Given the description of an element on the screen output the (x, y) to click on. 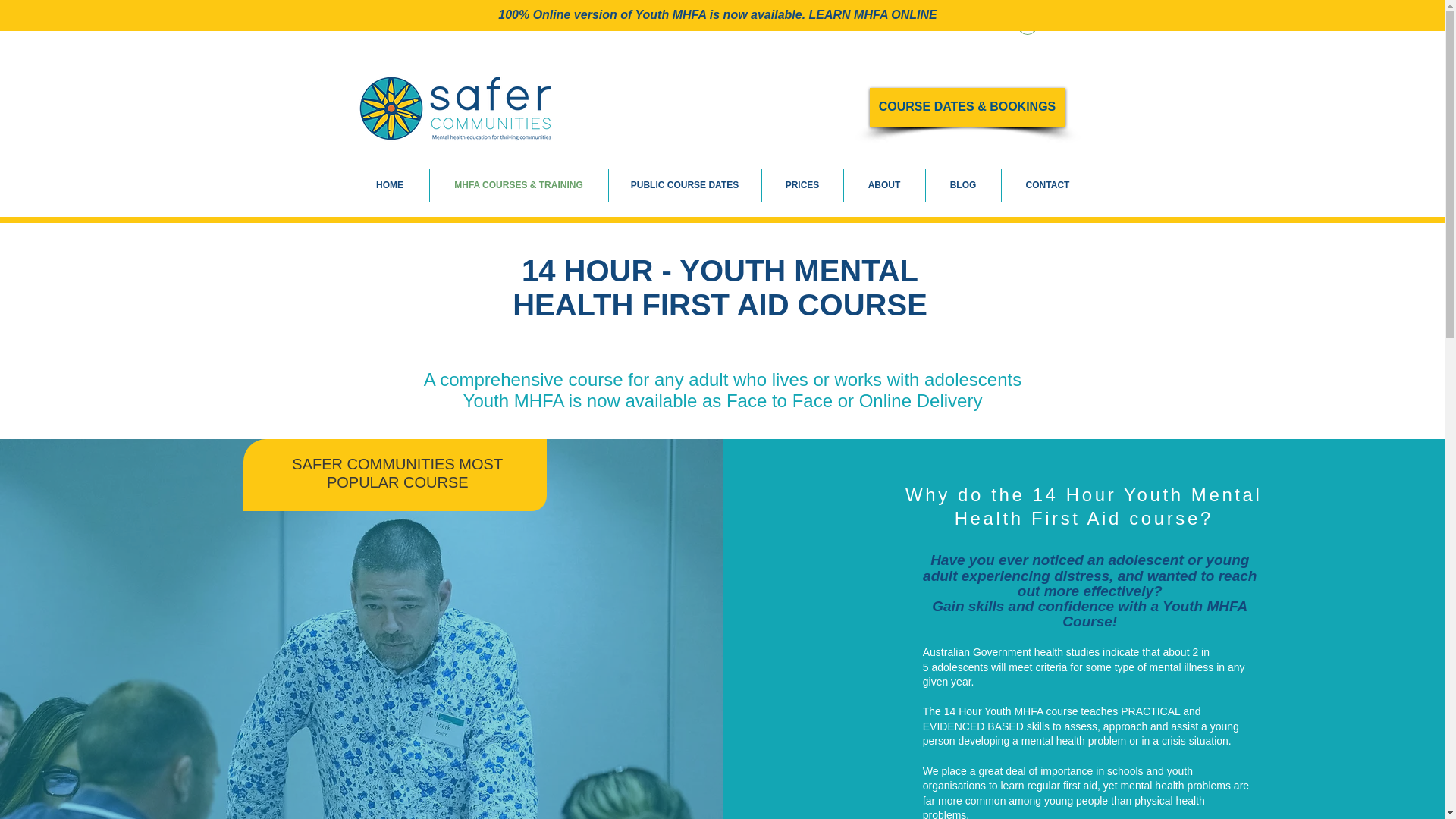
HOME (389, 184)
PUBLIC COURSE DATES (684, 184)
PRICES (802, 184)
Embedded Content (242, 331)
BLOG (962, 184)
LEARN MHFA ONLINE (873, 14)
CONTACT (1047, 184)
Embedded Content (717, 11)
ABOUT (883, 184)
Log In (1046, 24)
